Given the description of an element on the screen output the (x, y) to click on. 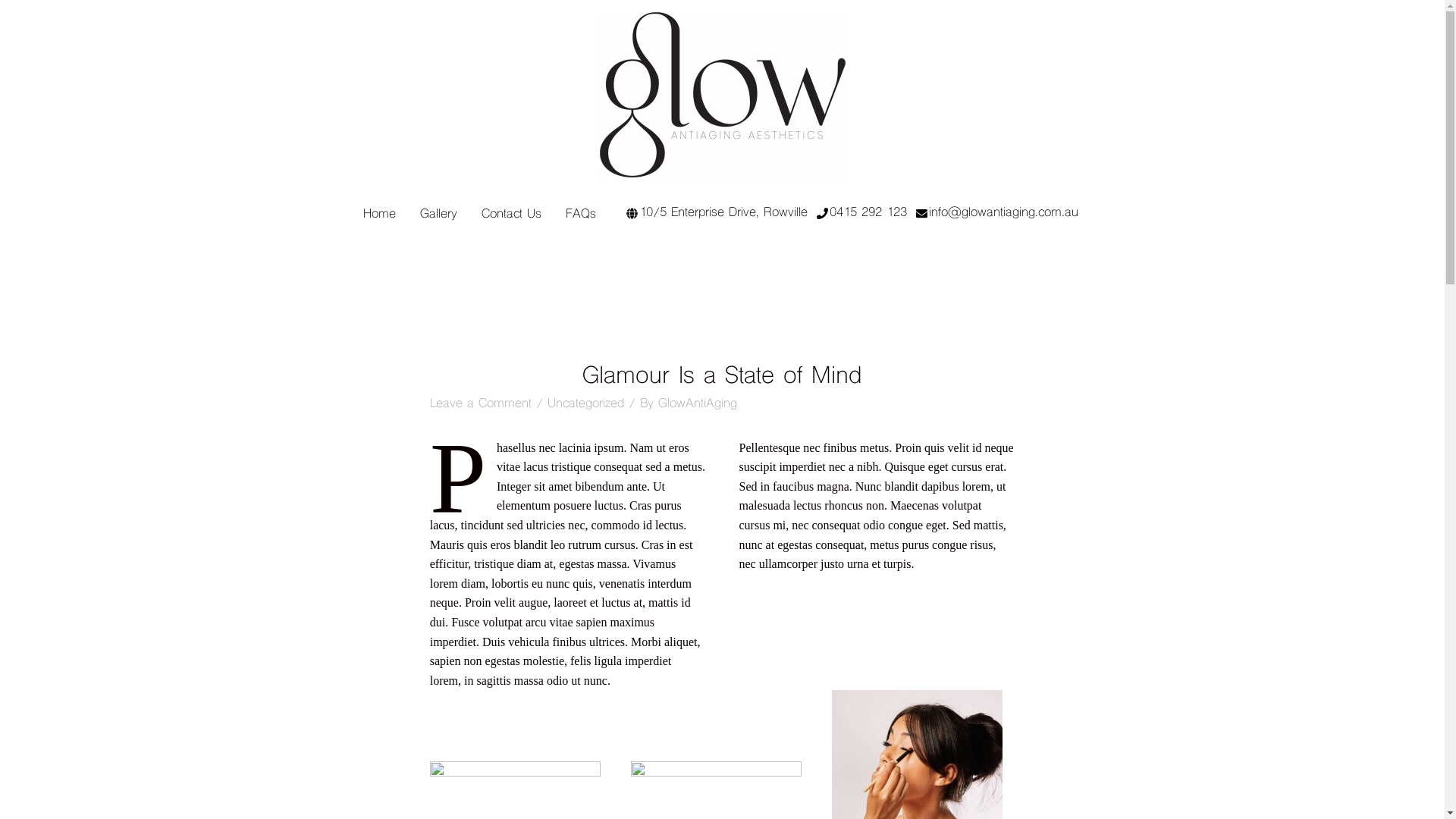
info@glowantiaging.com.au Element type: text (1002, 212)
Leave a Comment Element type: text (480, 403)
Gallery Element type: text (438, 214)
Home Element type: text (378, 214)
GlowAntiAging Element type: text (697, 403)
0415 292 123 Element type: text (867, 212)
Uncategorized Element type: text (585, 403)
Contact Us Element type: text (510, 214)
FAQs Element type: text (580, 214)
